Given the description of an element on the screen output the (x, y) to click on. 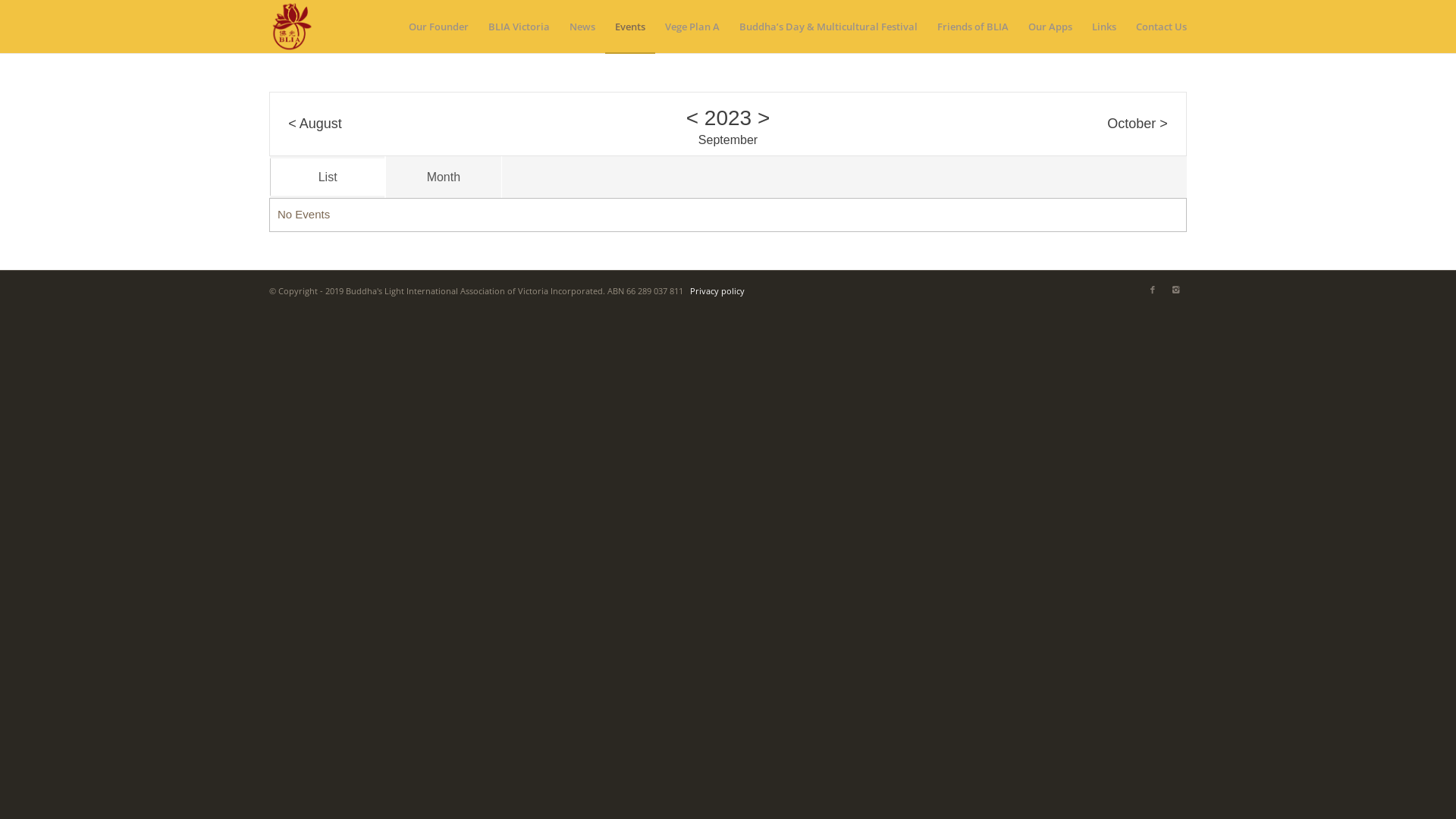
Links Element type: text (1104, 26)
> Element type: text (763, 117)
Vege Plan A Element type: text (692, 26)
News Element type: text (582, 26)
Our Apps Element type: text (1050, 26)
List Element type: text (326, 176)
Events Element type: text (630, 26)
Privacy policy Element type: text (717, 290)
Facebook Element type: hover (1152, 288)
< Element type: text (692, 117)
Instagram Element type: hover (1175, 288)
BLIA Victoria Element type: text (518, 26)
< August Element type: text (315, 123)
Friends of BLIA Element type: text (972, 26)
Month Element type: text (442, 176)
Our Founder Element type: text (438, 26)
Contact Us Element type: text (1156, 26)
October > Element type: text (1137, 123)
